Given the description of an element on the screen output the (x, y) to click on. 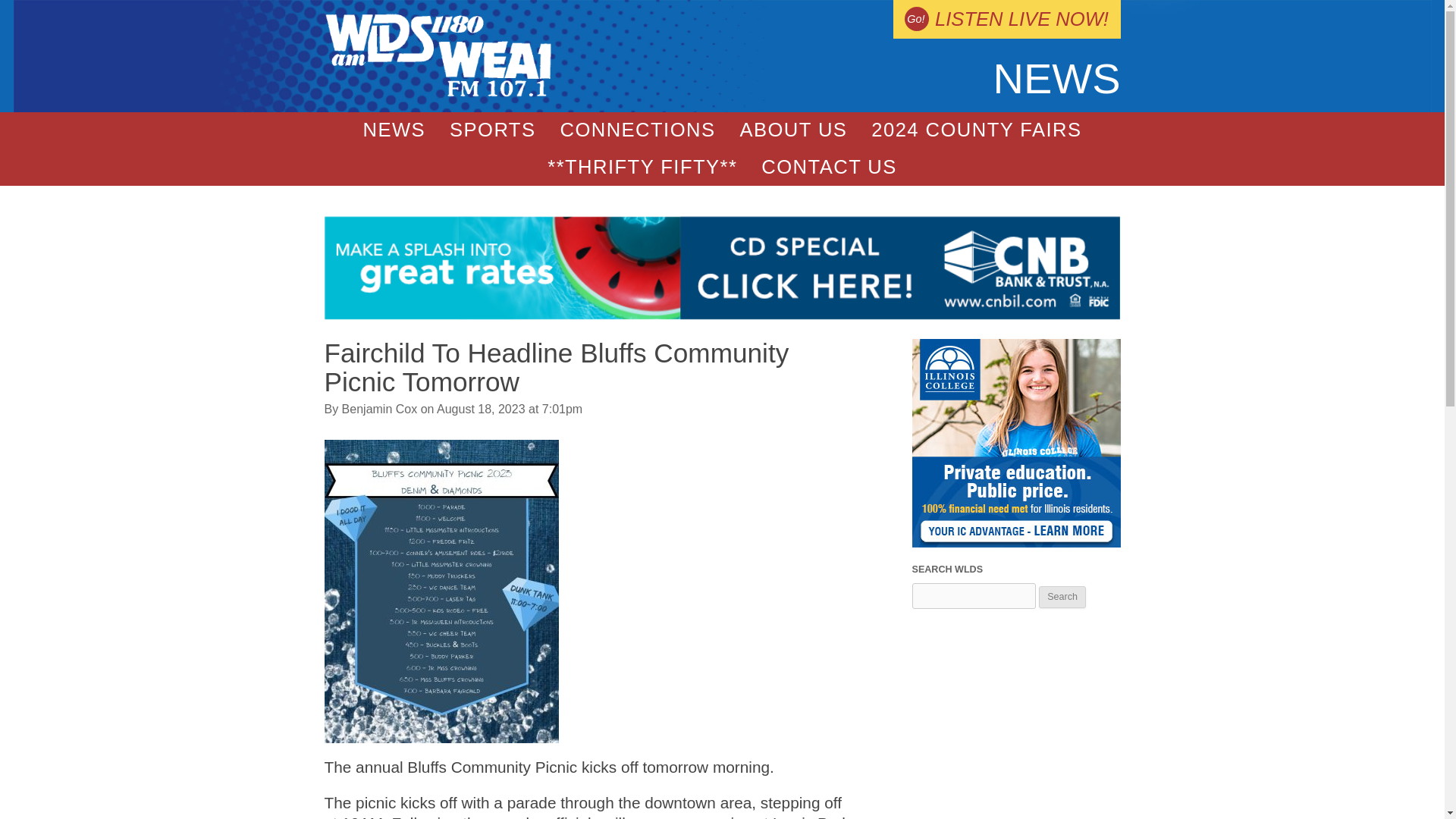
2024 COUNTY FAIRS (976, 130)
Search (1062, 597)
LISTEN LIVE NOW! (1006, 19)
Search (1062, 597)
CONTACT US (828, 167)
WLDS (437, 92)
